Given the description of an element on the screen output the (x, y) to click on. 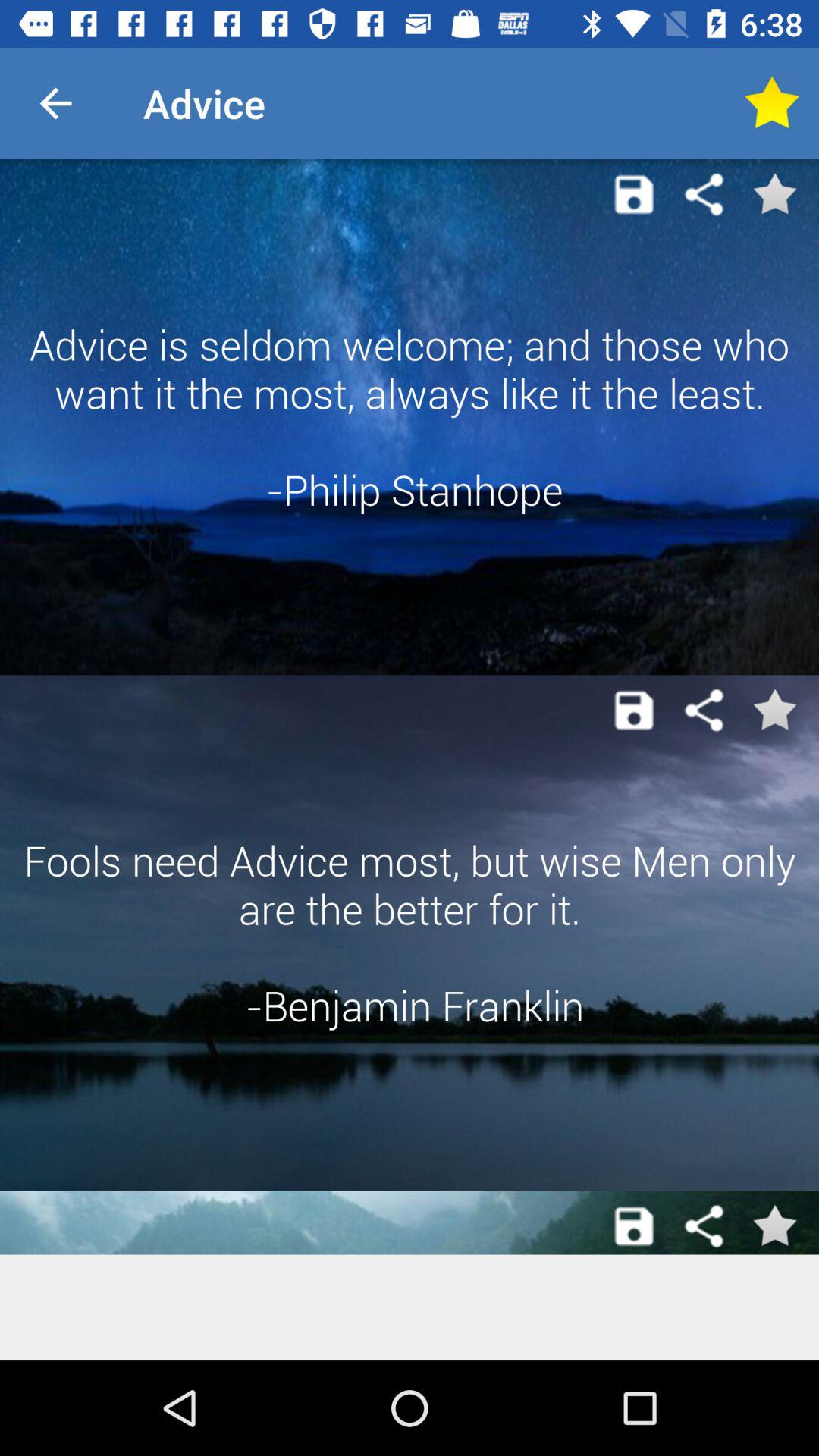
choose item to the left of advice icon (55, 103)
